Given the description of an element on the screen output the (x, y) to click on. 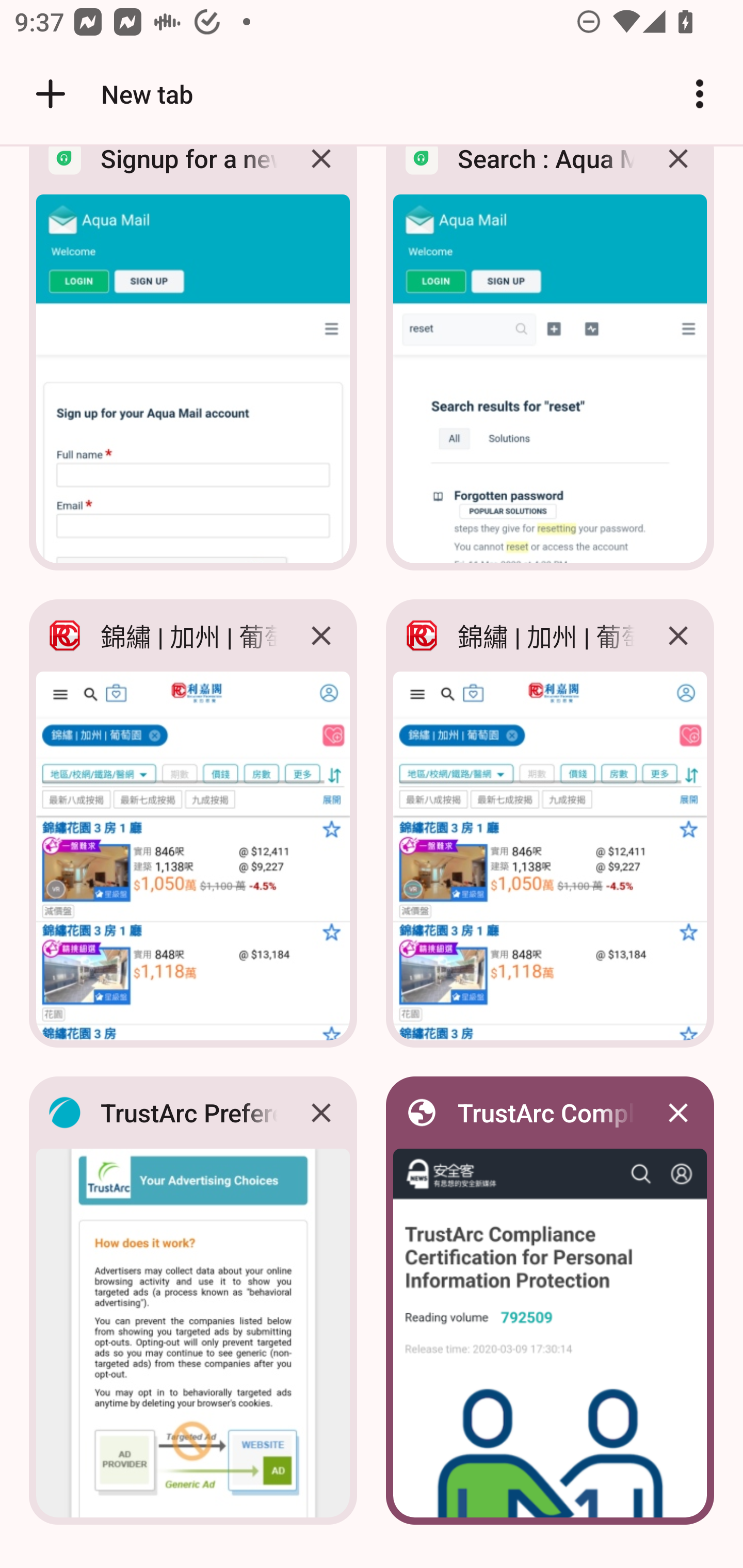
New tab (111, 93)
Customize and control Google Chrome (699, 93)
Close Signup for a new account : Aqua Mail tab (320, 173)
Close Search : Aqua Mail tab (677, 173)
Close TrustArc Preference Manager tab (320, 1112)
